Given the description of an element on the screen output the (x, y) to click on. 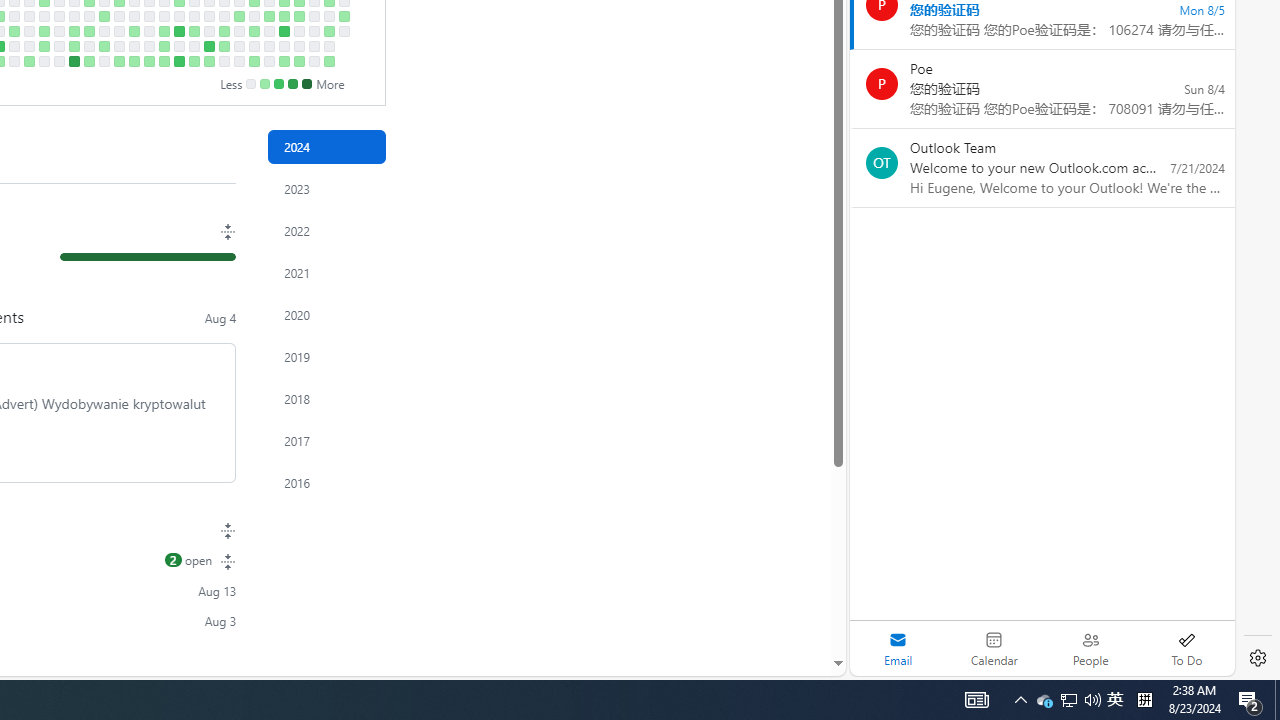
No contributions on July 19th. (268, 46)
2016 (326, 482)
No contributions on May 8th. (118, 16)
Aug 4 (219, 317)
2024 (326, 147)
No contributions on August 1st. (298, 30)
1 contribution on July 24th. (283, 16)
No contributions on March 22nd. (13, 46)
No contributions on July 20th. (268, 61)
No contributions on July 10th. (253, 16)
No contributions on August 8th. (314, 30)
2 contributions on June 28th. (223, 46)
No contributions on March 29th. (28, 46)
12 contributions on April 20th. (73, 61)
